Given the description of an element on the screen output the (x, y) to click on. 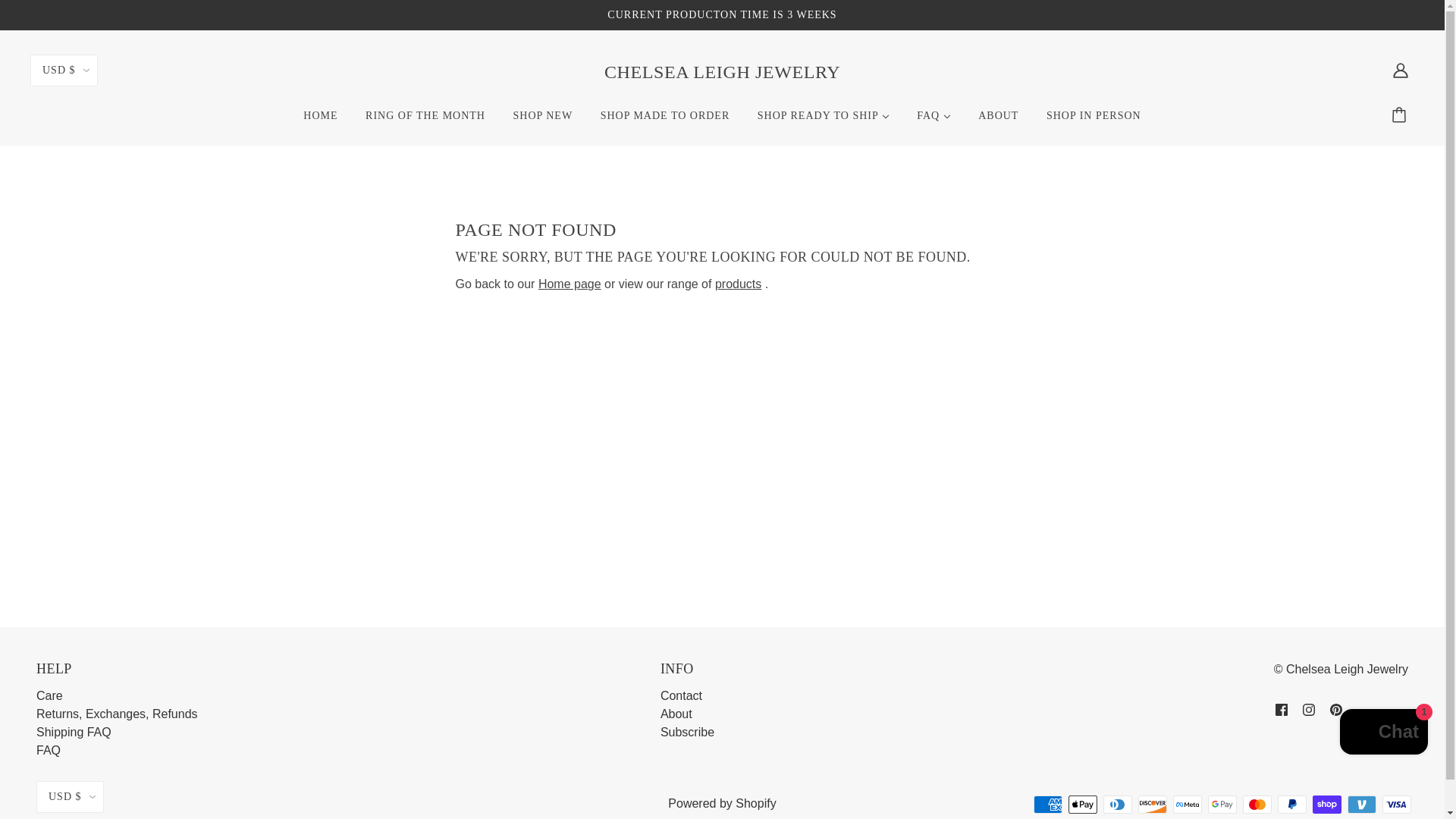
Visa (1395, 804)
Shipping FAQ (74, 731)
American Express (1047, 804)
FAQ (48, 749)
SHOP NEW (542, 121)
CHELSEA LEIGH JEWELRY (722, 71)
Shop Pay (1326, 804)
Apple Pay (1082, 804)
Shopify online store chat (1383, 733)
Diners Club (1117, 804)
SHOP READY TO SHIP (823, 121)
Mastercard (1257, 804)
FAQ (933, 121)
HOME (320, 121)
Returns, Exchanges, Refunds (117, 713)
